Given the description of an element on the screen output the (x, y) to click on. 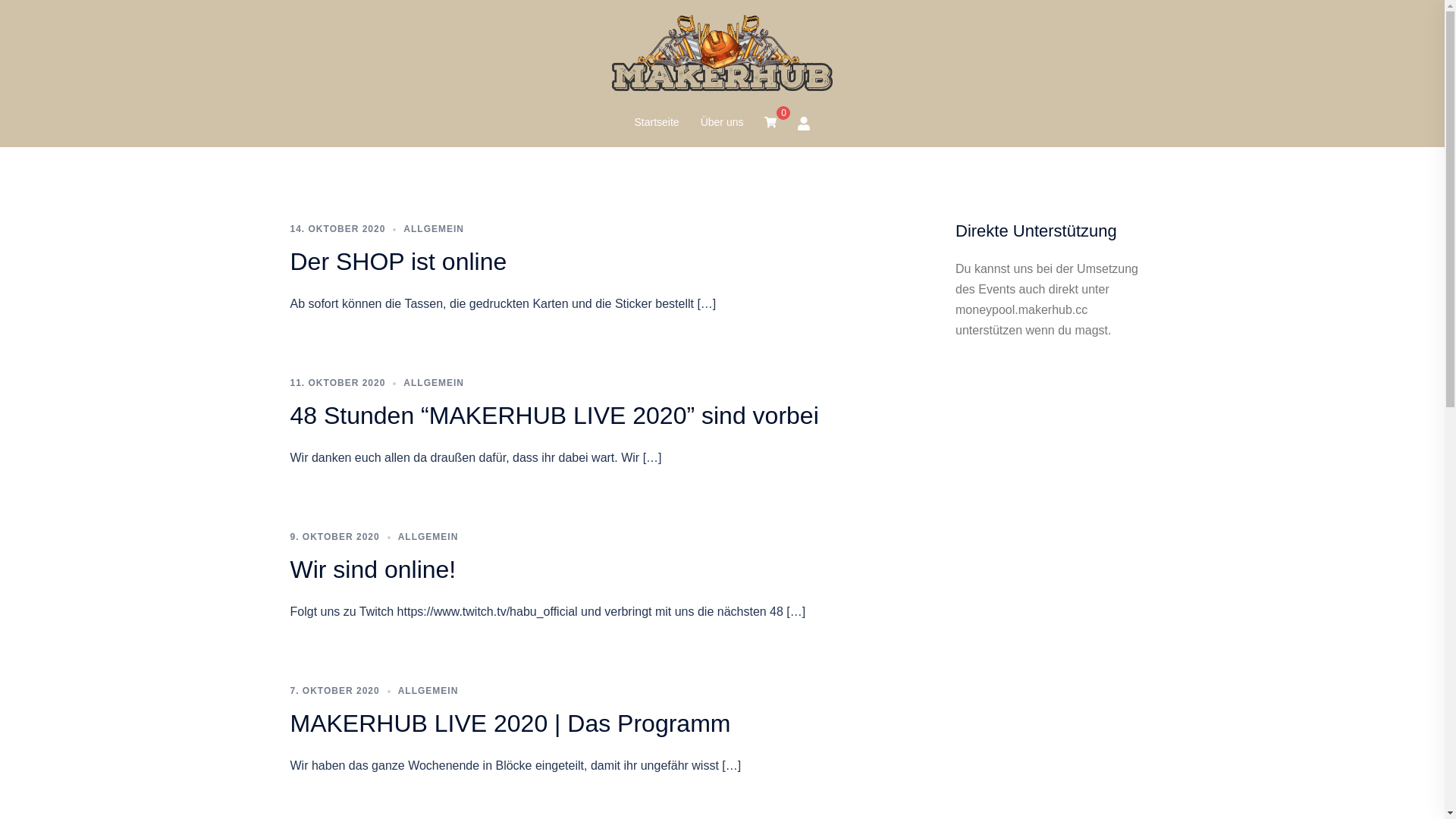
Startseite Element type: text (656, 122)
MAKERHUB Element type: hover (721, 57)
ALLGEMEIN Element type: text (428, 690)
ALLGEMEIN Element type: text (433, 228)
moneypool.makerhub.cc Element type: text (1021, 309)
ALLGEMEIN Element type: text (428, 536)
0 Element type: text (770, 122)
ALLGEMEIN Element type: text (433, 382)
Der SHOP ist online Element type: text (397, 261)
Skip to content Element type: text (0, 0)
Wir sind online! Element type: text (372, 569)
11. OKTOBER 2020 Element type: text (337, 382)
7. OKTOBER 2020 Element type: text (334, 690)
9. OKTOBER 2020 Element type: text (334, 536)
Login/Register Element type: hover (803, 122)
MAKERHUB LIVE 2020 | Das Programm Element type: text (509, 723)
14. OKTOBER 2020 Element type: text (337, 228)
